Given the description of an element on the screen output the (x, y) to click on. 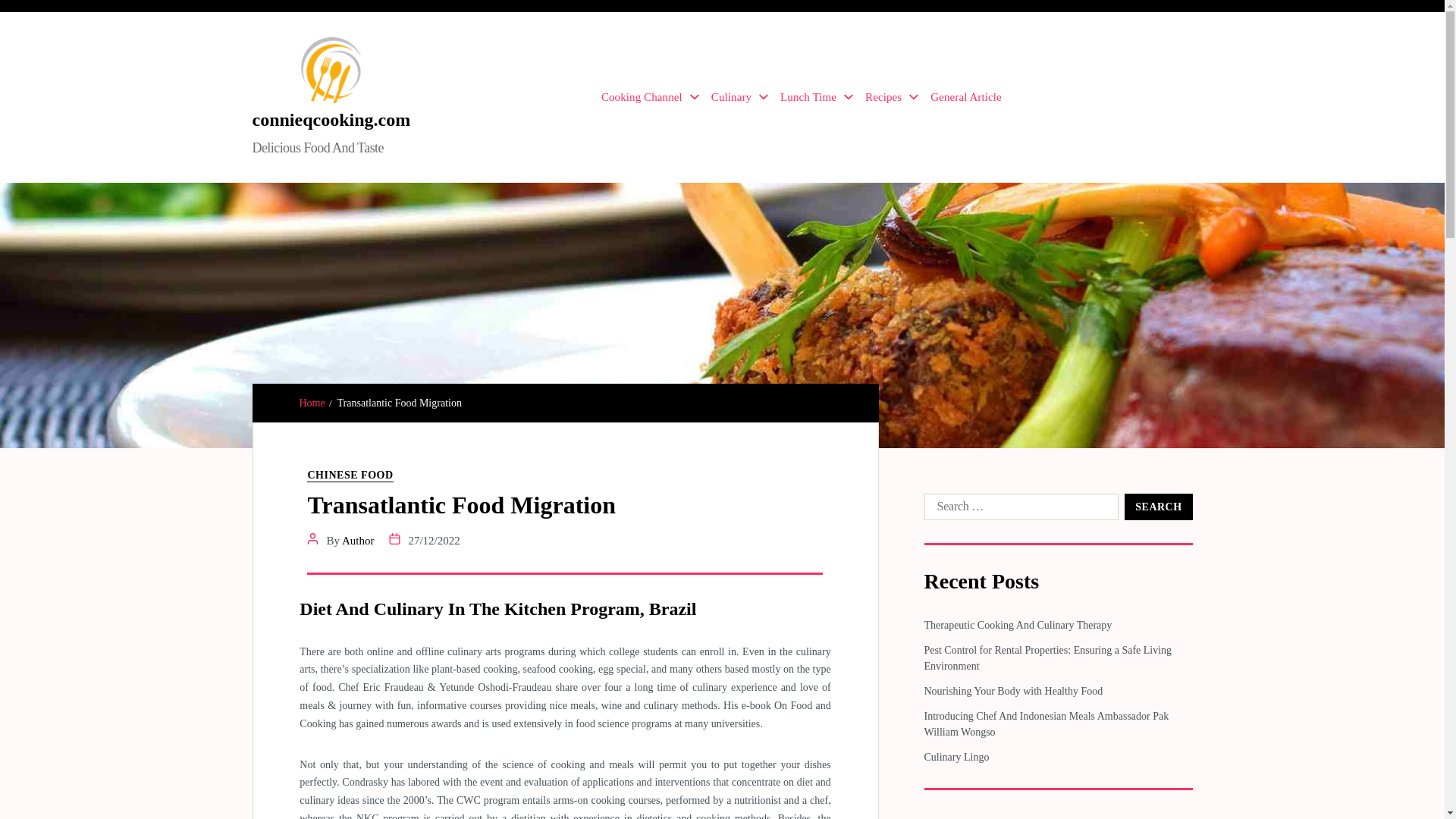
connieqcooking.com (330, 119)
General Article (965, 97)
Cooking Channel (649, 97)
Recipes (891, 97)
Lunch Time (816, 97)
Culinary (739, 97)
Search (1158, 506)
Search (1158, 506)
